Given the description of an element on the screen output the (x, y) to click on. 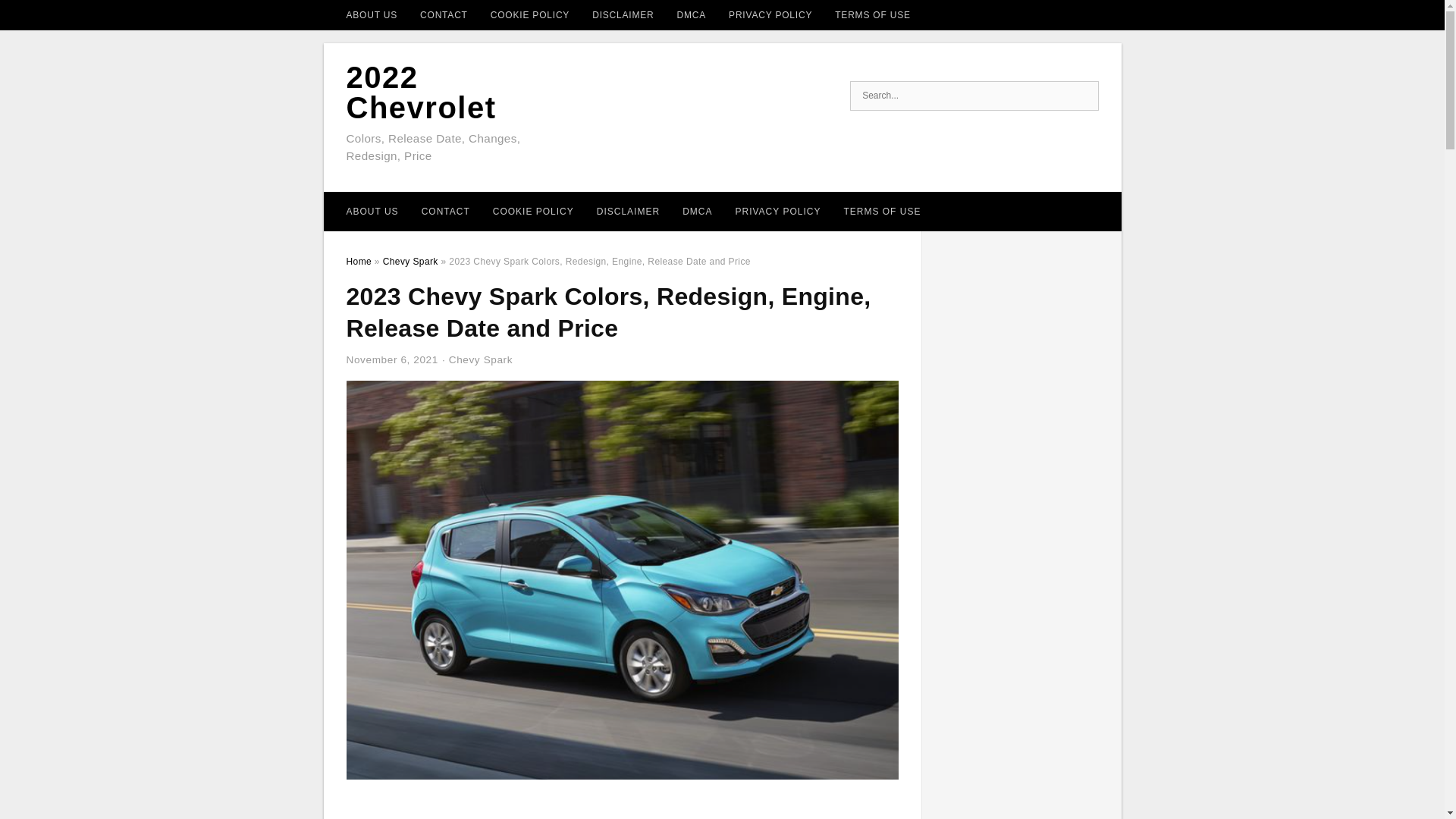
DISCLAIMER (628, 210)
2022 Chevrolet (421, 92)
Search (1082, 96)
Advertisement (622, 806)
Chevy Spark (480, 359)
ABOUT US (371, 15)
DISCLAIMER (622, 15)
COOKIE POLICY (529, 15)
PRIVACY POLICY (770, 15)
Chevy Spark (410, 261)
PRIVACY POLICY (777, 210)
CONTACT (444, 15)
DMCA (697, 210)
Search (1082, 96)
ABOUT US (372, 210)
